Given the description of an element on the screen output the (x, y) to click on. 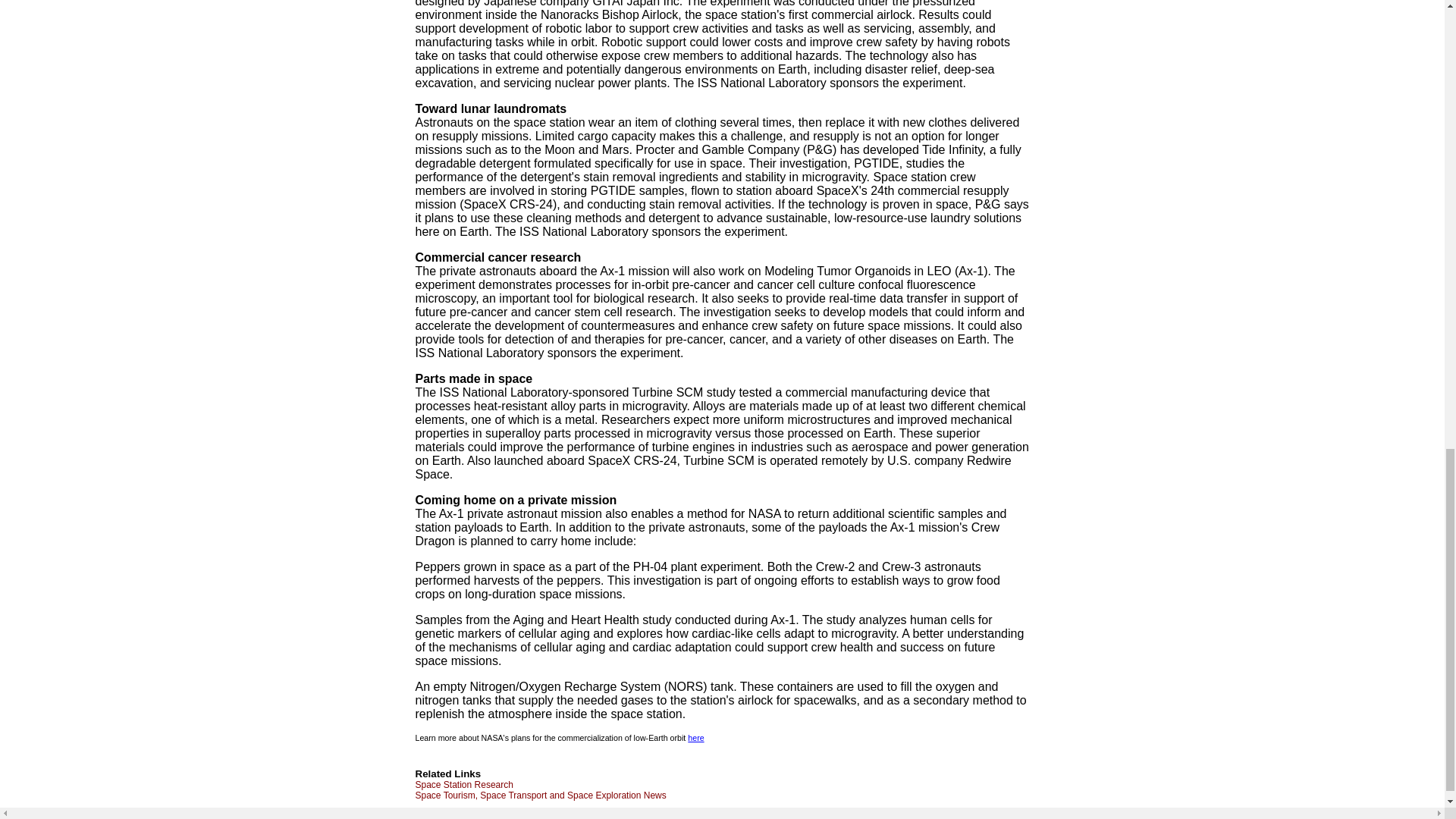
Space Station Research (463, 784)
Space Tourism, Space Transport and Space Exploration News (540, 795)
here (695, 737)
